Given the description of an element on the screen output the (x, y) to click on. 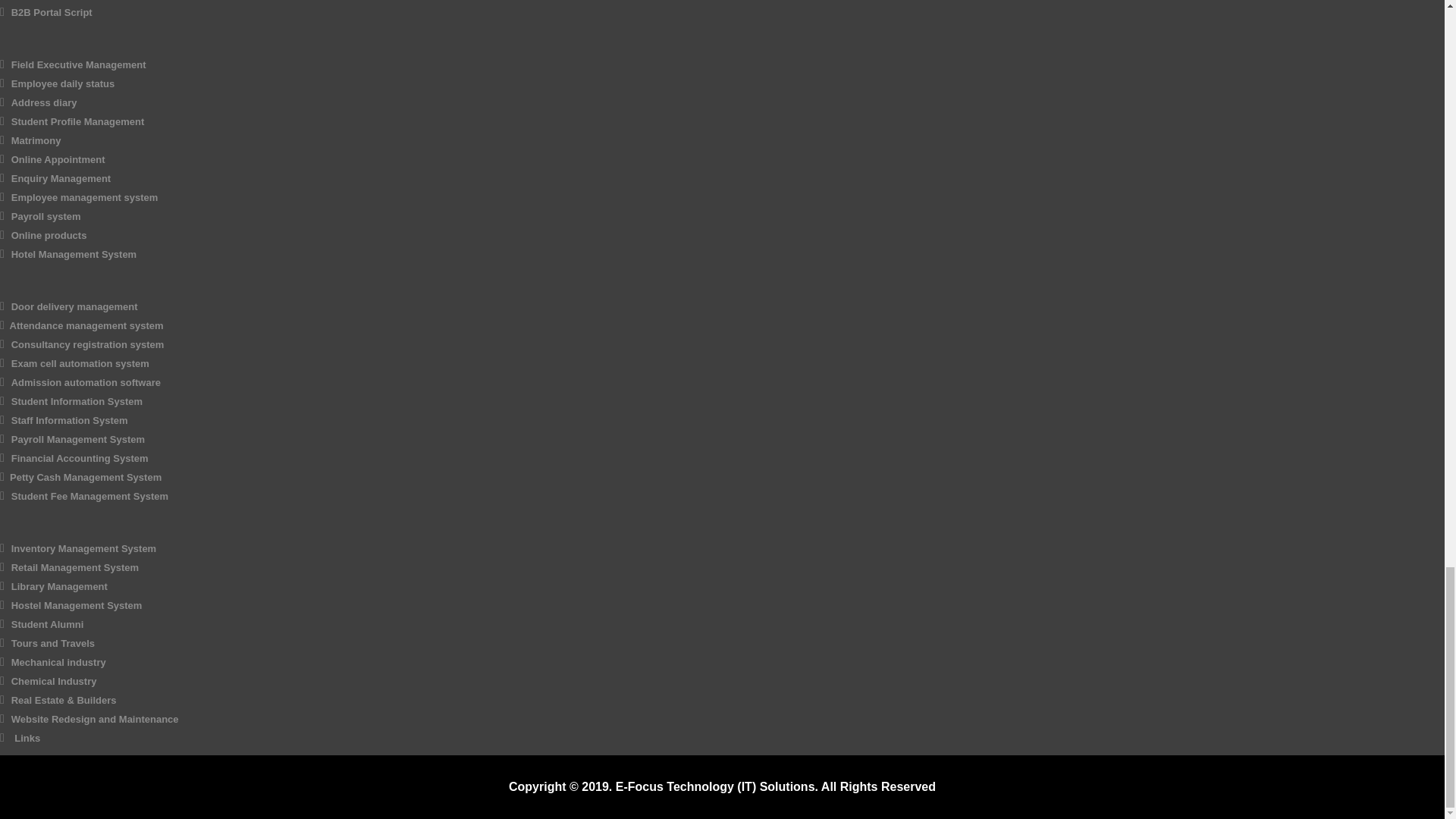
Matrimony (36, 140)
Address diary (44, 102)
B2B Portal Script (52, 12)
Employee daily status (63, 83)
Field Executive Management (79, 64)
Student Profile Management (77, 121)
